Given the description of an element on the screen output the (x, y) to click on. 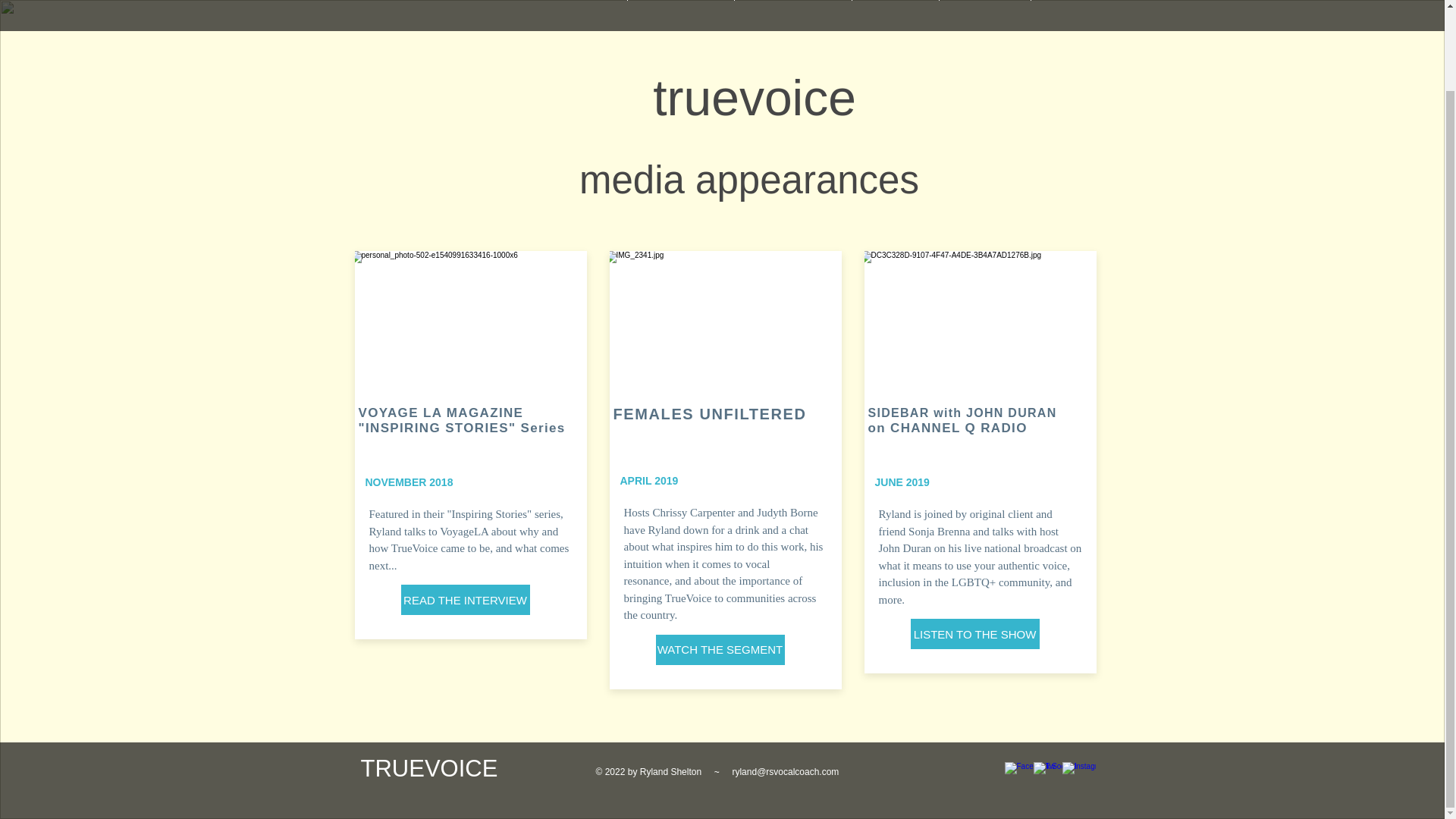
CONTACT (1063, 0)
WATCH THE SEGMENT (719, 648)
LISTEN TO THE SHOW (974, 634)
HOME (601, 0)
READ THE INTERVIEW (464, 599)
